Given the description of an element on the screen output the (x, y) to click on. 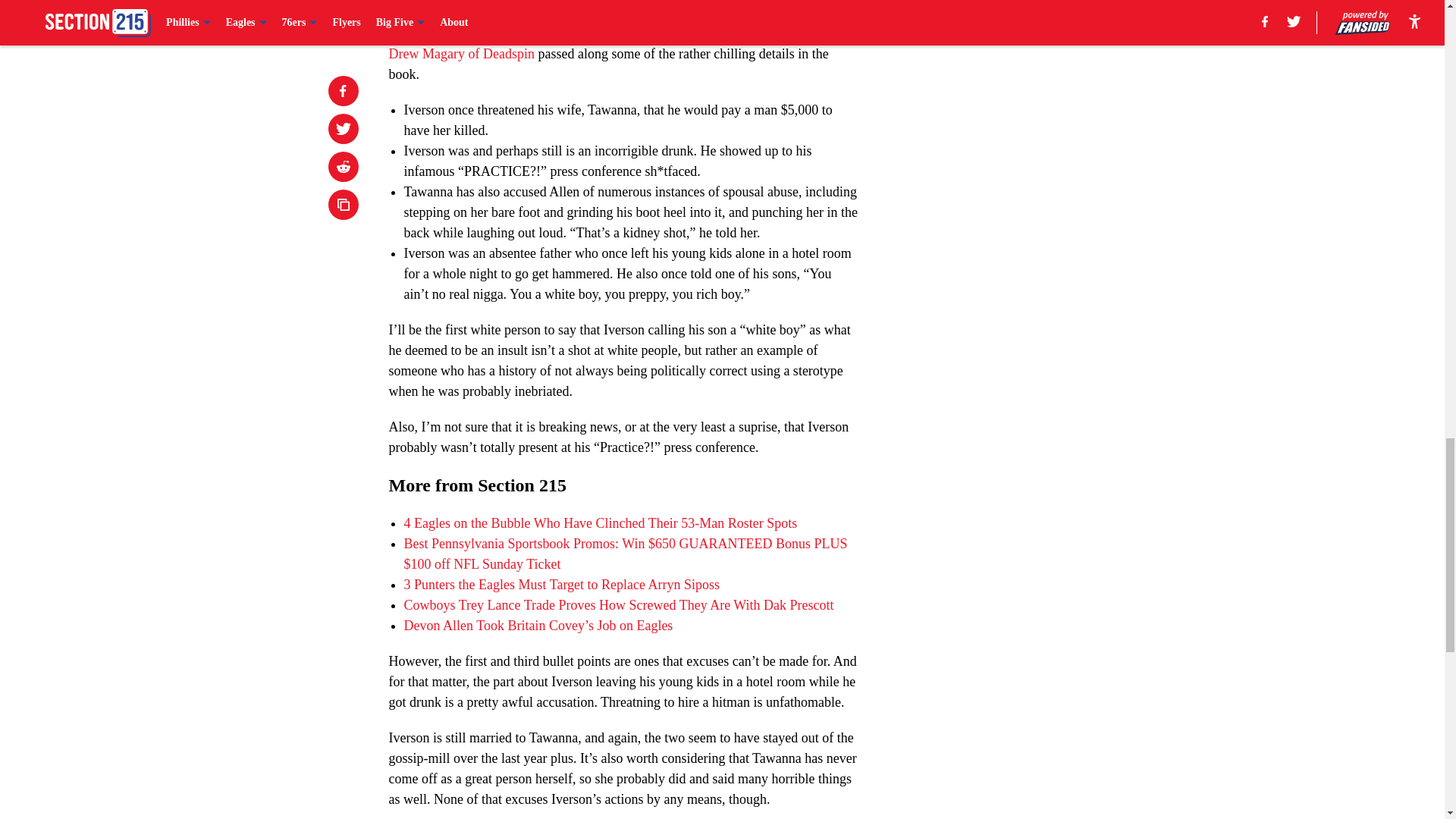
3 Punters the Eagles Must Target to Replace Arryn Siposs (561, 584)
Drew Magary of Deadspin (461, 53)
